Given the description of an element on the screen output the (x, y) to click on. 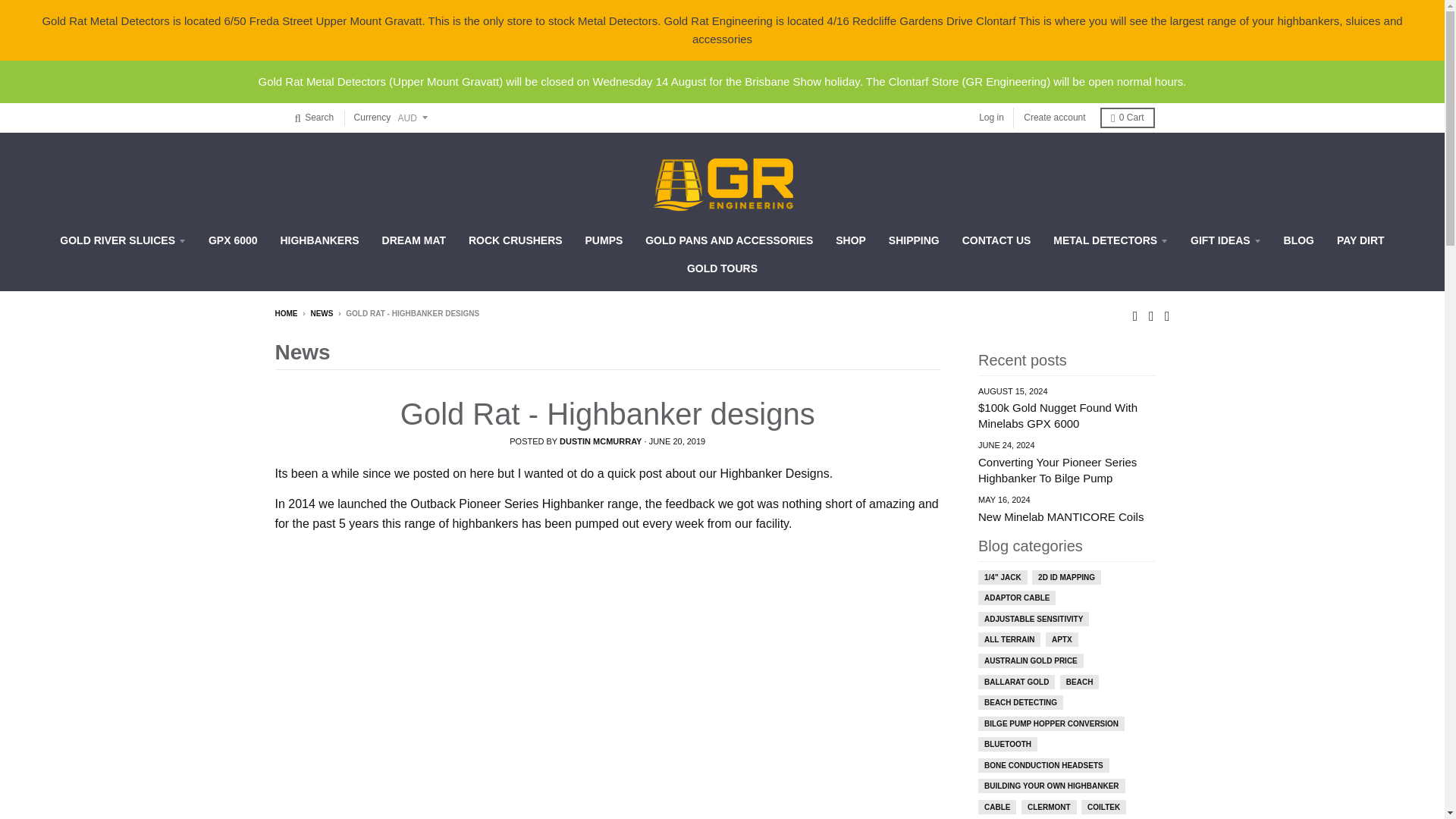
METAL DETECTORS (1110, 239)
SHIPPING (914, 239)
0 Cart (1127, 117)
GOLD PANS AND ACCESSORIES (728, 239)
GIFT IDEAS (1225, 239)
ROCK CRUSHERS (515, 239)
BLOG (1298, 239)
Log in (991, 117)
PUMPS (604, 239)
SHOP (850, 239)
